Given the description of an element on the screen output the (x, y) to click on. 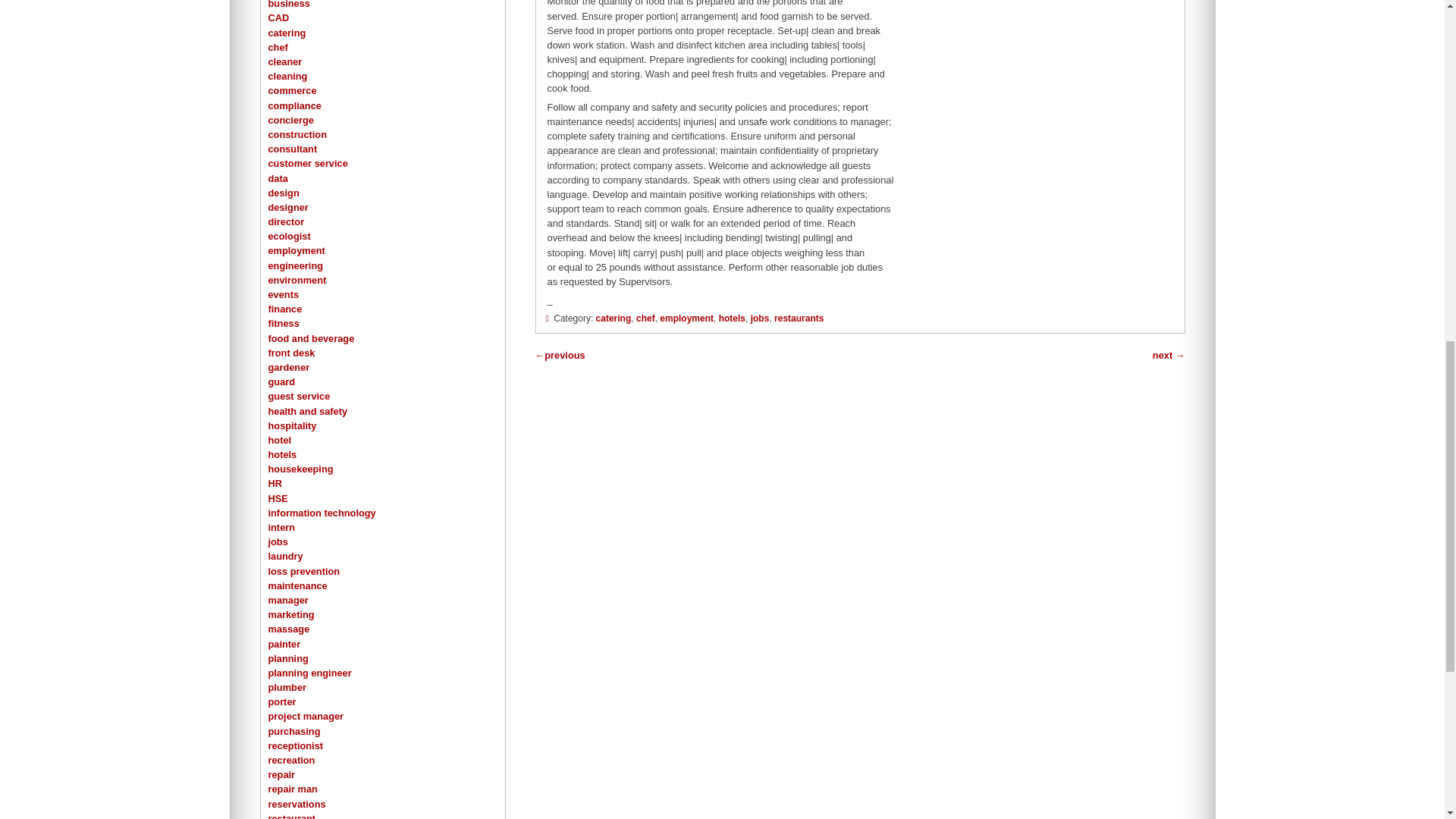
cleaning (287, 75)
chef (277, 47)
business (288, 4)
chef (645, 317)
employment (686, 317)
hotels (732, 317)
catering (286, 32)
catering (613, 317)
commerce (292, 90)
compliance (294, 105)
jobs (760, 317)
restaurants (799, 317)
cleaner (284, 61)
CAD (278, 17)
